Given the description of an element on the screen output the (x, y) to click on. 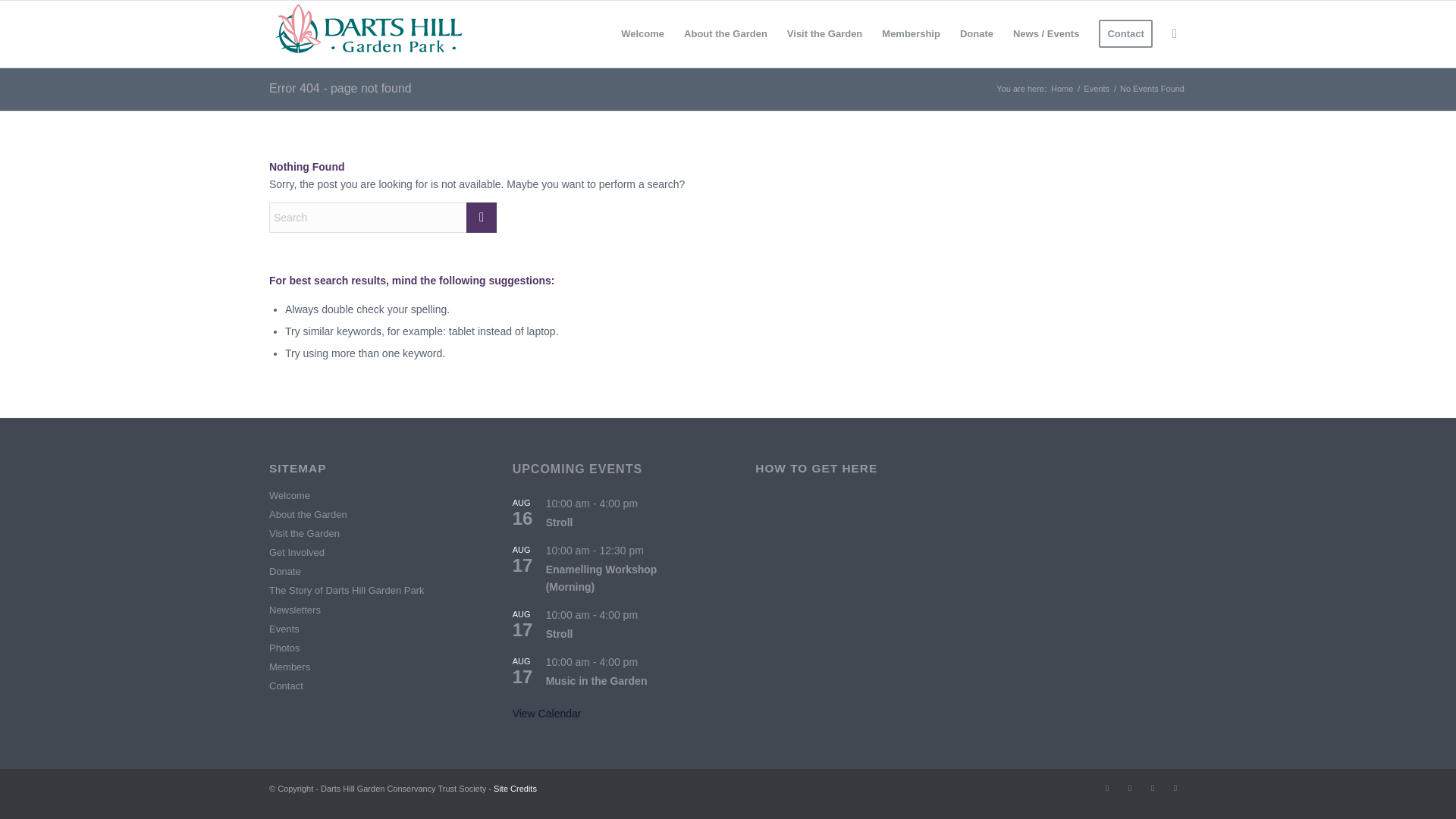
X (1107, 787)
Stroll (559, 634)
Facebook (1129, 787)
Membership (911, 33)
Instagram (1152, 787)
Youtube (1174, 787)
Darts Hill Garden Conservancy Trust Society (1061, 89)
Visit the Garden (824, 33)
Contact (1125, 33)
Welcome (642, 33)
